Given the description of an element on the screen output the (x, y) to click on. 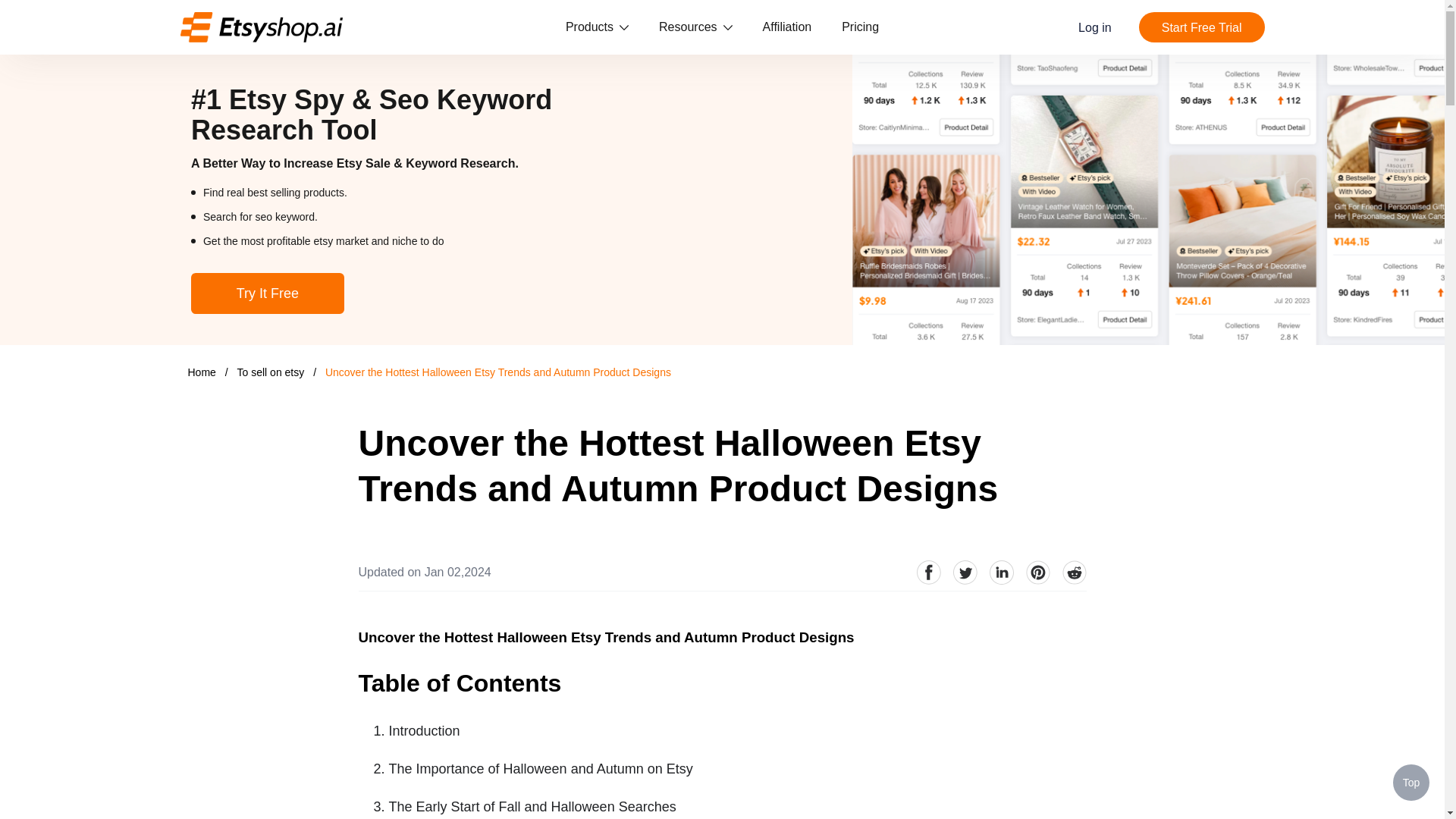
Log in (1094, 27)
Try It Free (266, 292)
pinterest (1037, 572)
Start Free Trial (1201, 27)
Affiliation (787, 26)
Home (201, 372)
Pricing (860, 26)
reddit (1073, 572)
Twitter (964, 572)
linkedin (1000, 572)
facebook (927, 572)
To sell on etsy (272, 372)
